Given the description of an element on the screen output the (x, y) to click on. 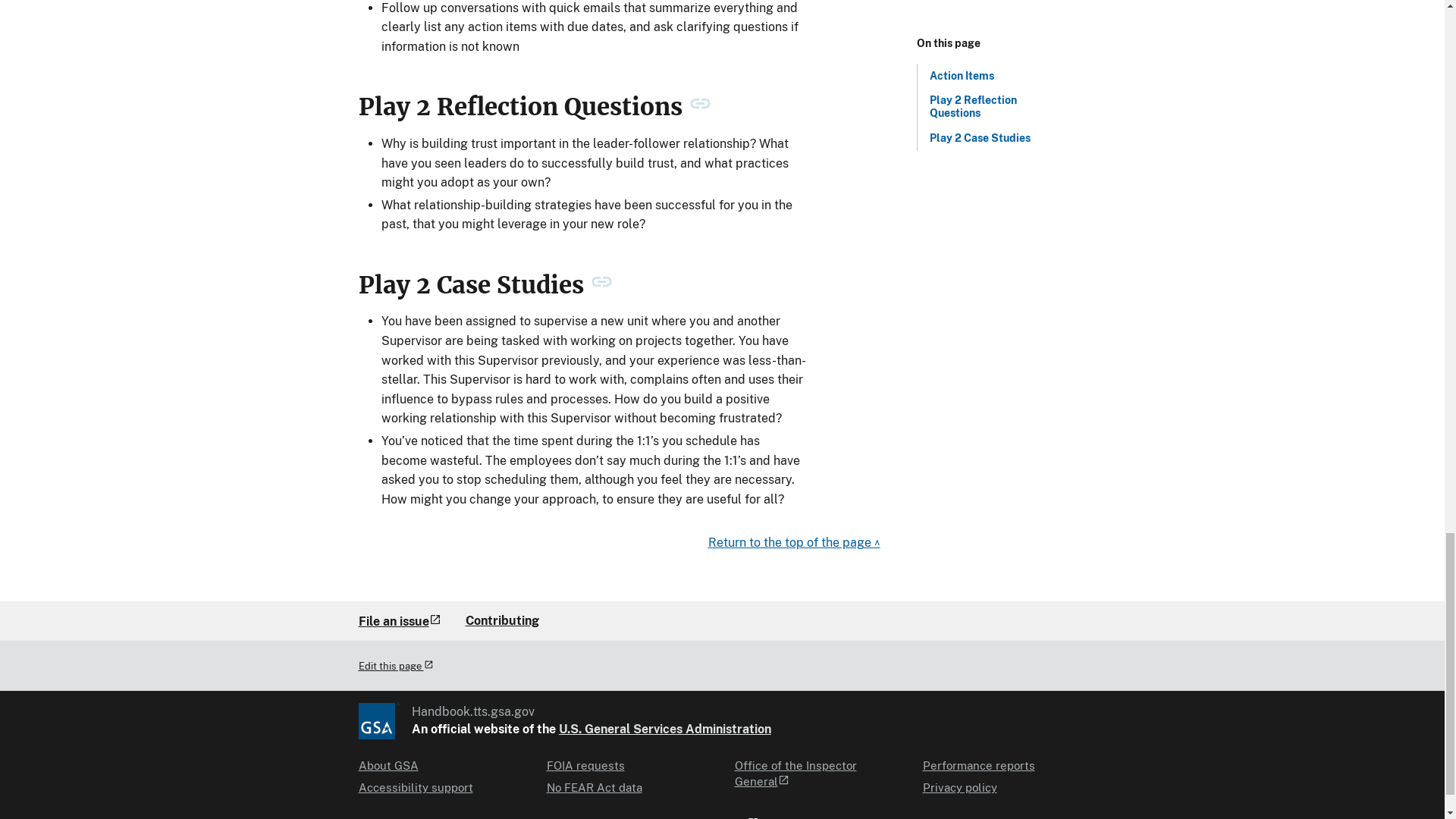
Contributing (501, 620)
No FEAR Act data (594, 787)
About GSA (387, 765)
Performance reports (977, 765)
Visit USA.gov (712, 817)
File an issue (399, 620)
U.S. General Services Administration (665, 728)
Accessibility support (414, 787)
Edit this page (395, 665)
Privacy policy (958, 787)
